Given the description of an element on the screen output the (x, y) to click on. 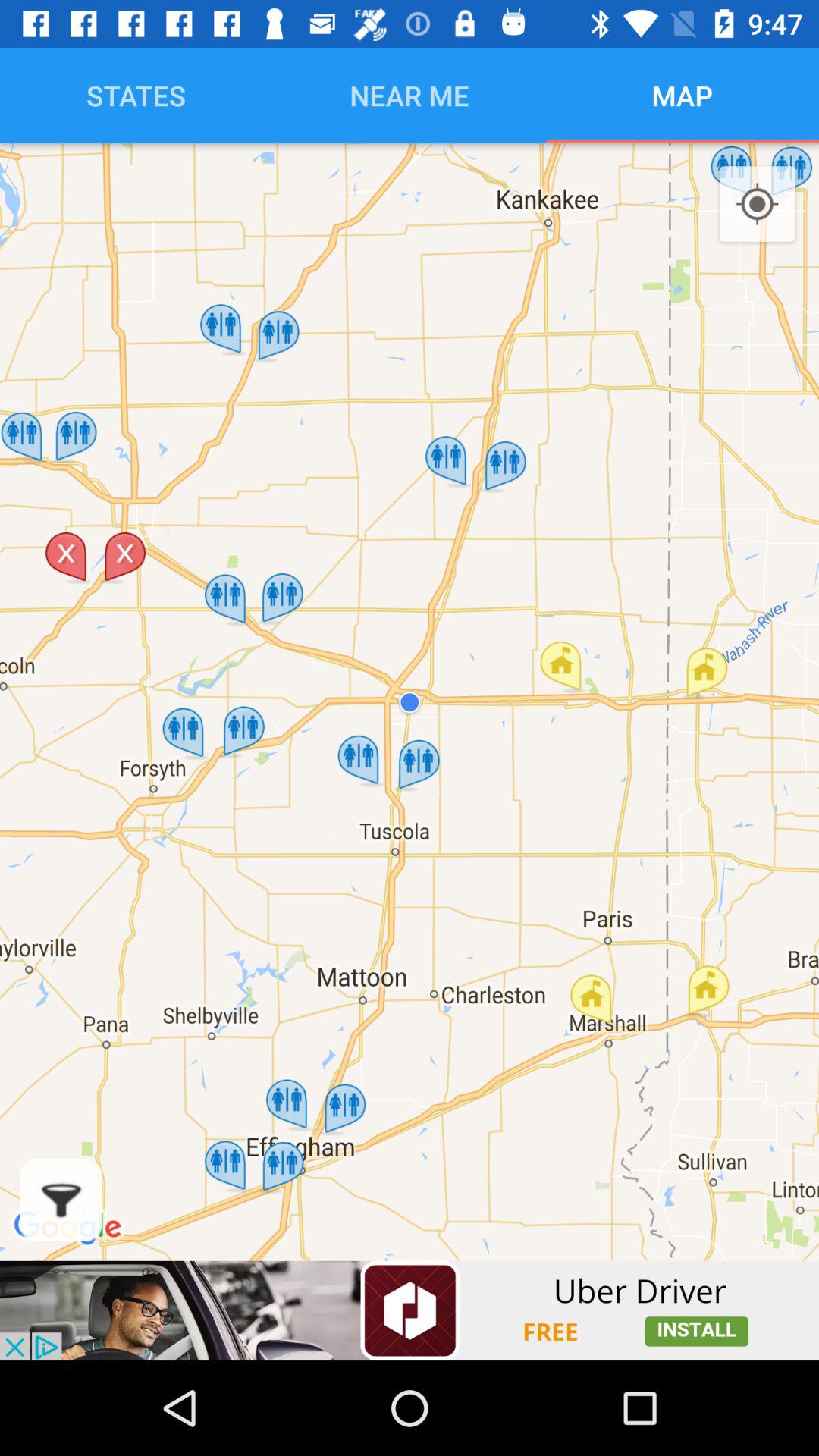
filter elements (60, 1200)
